Given the description of an element on the screen output the (x, y) to click on. 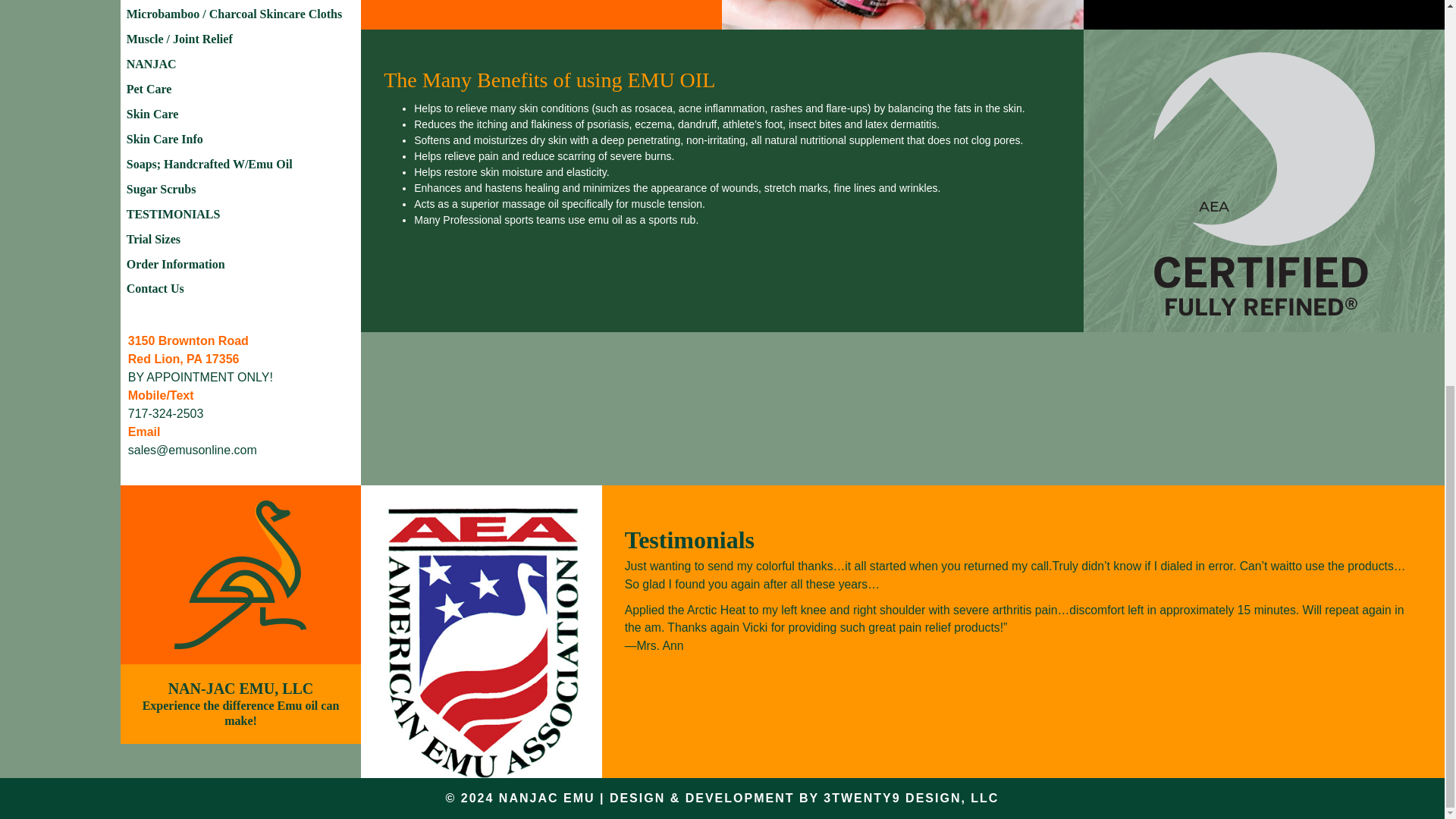
Sugar Scrubs (240, 189)
Trial Sizes (240, 239)
TESTIMONIALS (240, 214)
Pet Care (240, 89)
NANJAC (240, 64)
Skin Care Info (240, 139)
Contact Us (240, 289)
Skin Care (240, 114)
Order Information (240, 263)
